Given the description of an element on the screen output the (x, y) to click on. 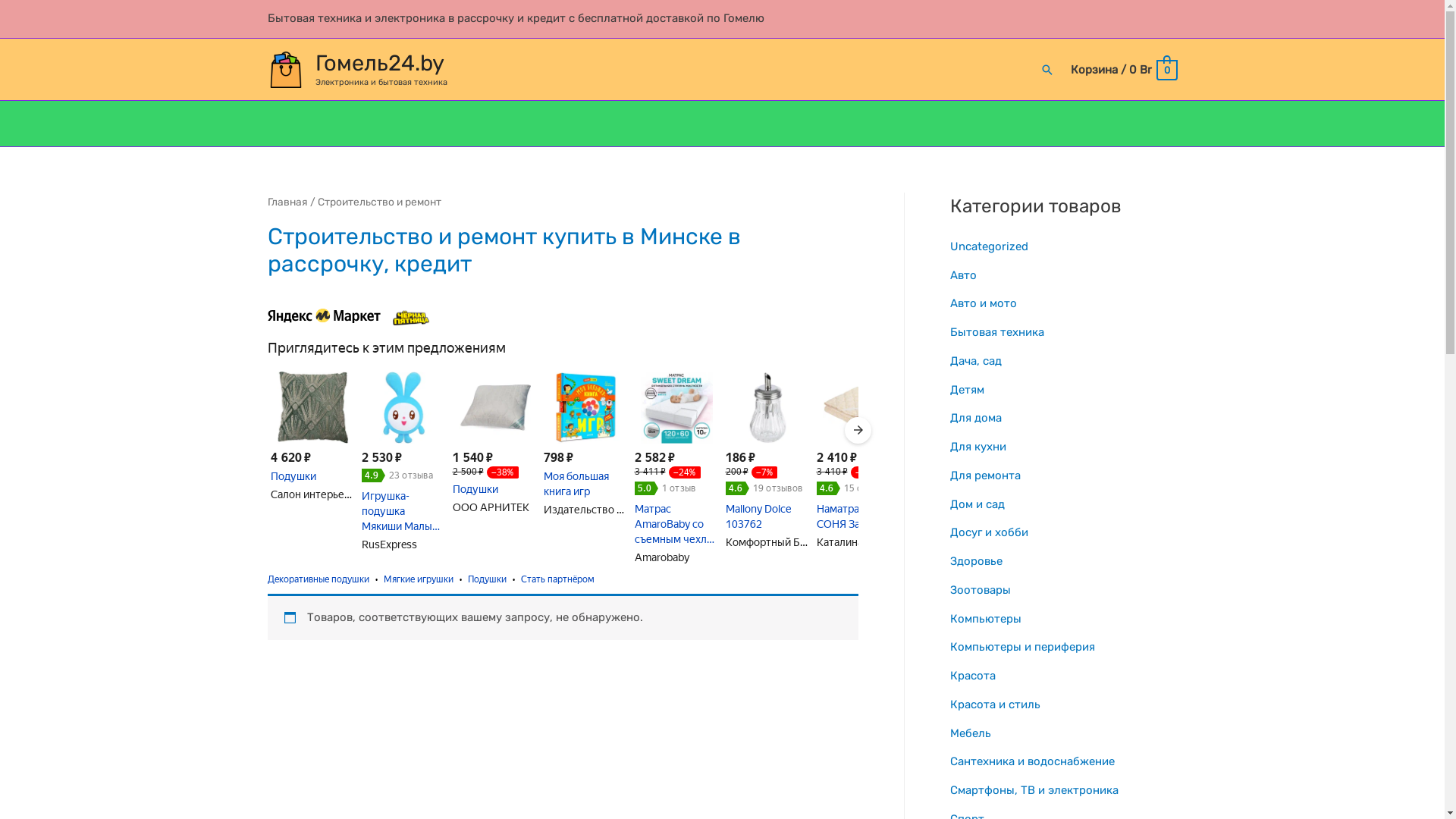
5.0 Element type: text (645, 488)
4.6 Element type: text (736, 488)
4.6 Element type: text (827, 488)
Mallony Dolce 103762 Element type: text (766, 516)
4.9 Element type: text (372, 475)
RusExpress Element type: text (388, 544)
Amarobaby Element type: text (660, 557)
Uncategorized Element type: text (988, 246)
